Given the description of an element on the screen output the (x, y) to click on. 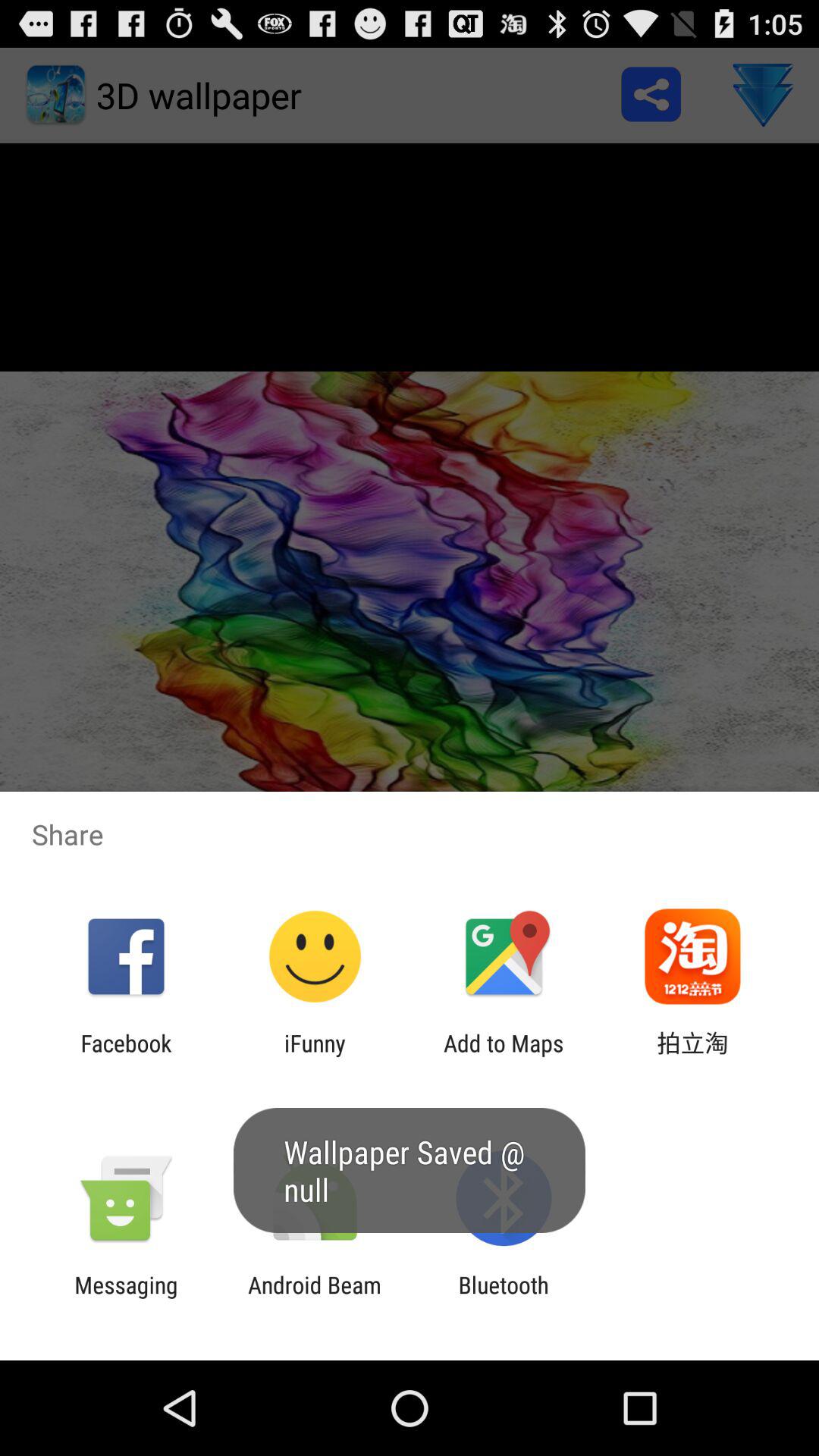
open app to the left of the ifunny icon (125, 1056)
